Given the description of an element on the screen output the (x, y) to click on. 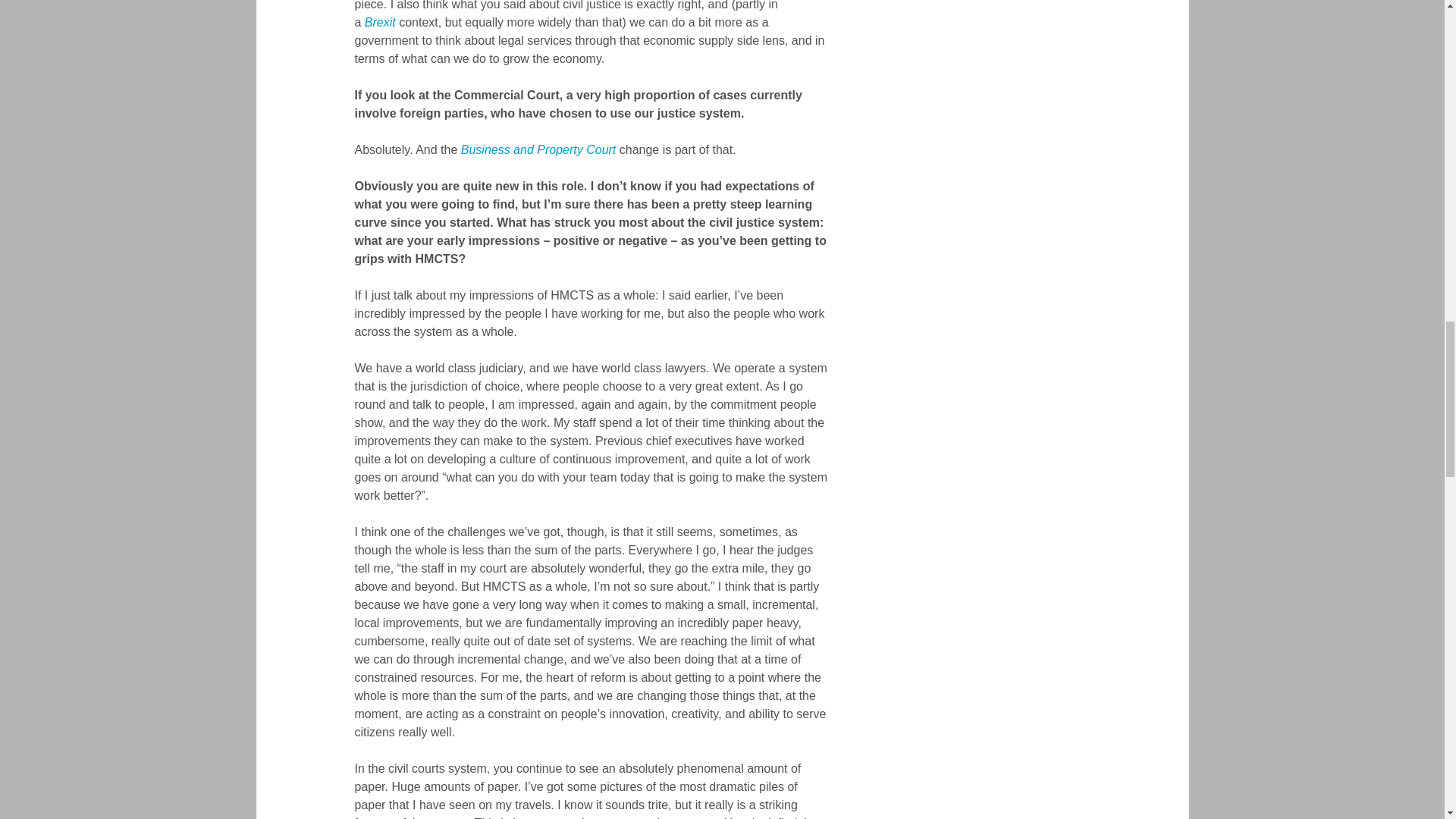
Business and Property Court (538, 149)
Brexit (380, 21)
Brexit: the legal implications (380, 21)
